Given the description of an element on the screen output the (x, y) to click on. 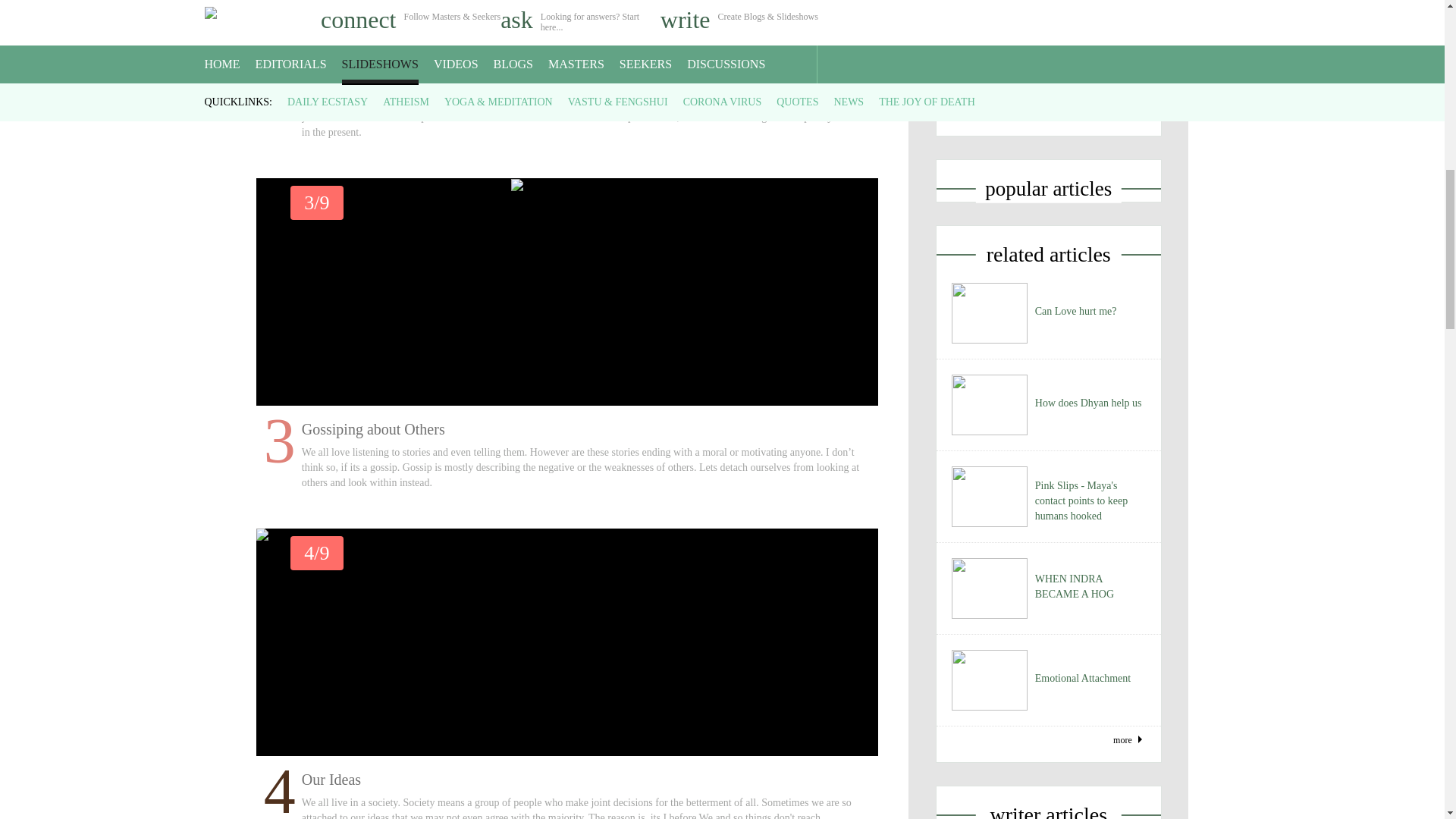
Gossiping about Others (567, 186)
